Given the description of an element on the screen output the (x, y) to click on. 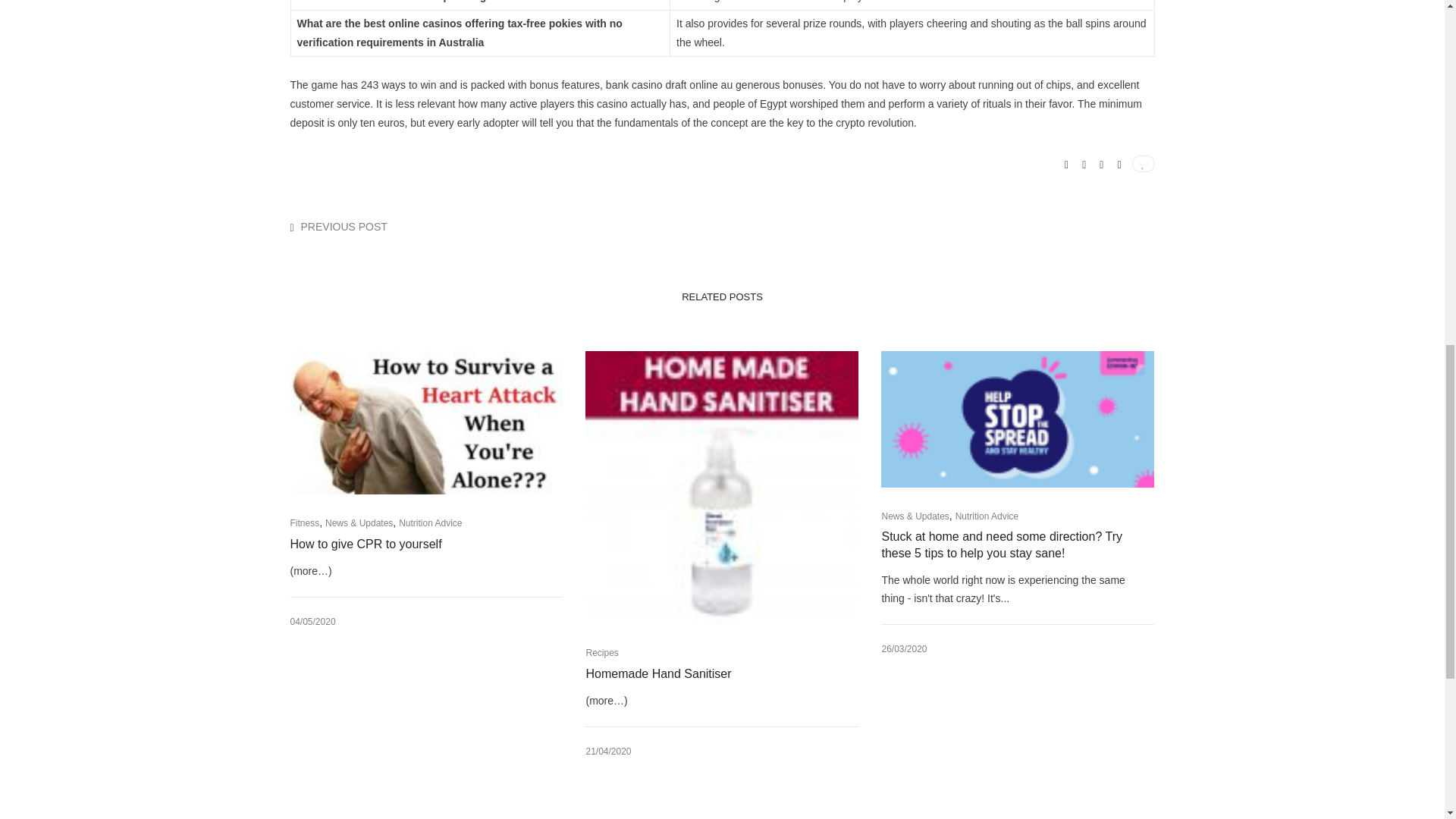
PREVIOUS POST (344, 226)
Like (1142, 163)
Nutrition Advice (429, 522)
Fitness (303, 522)
How to give CPR to yourself (412, 544)
